Given the description of an element on the screen output the (x, y) to click on. 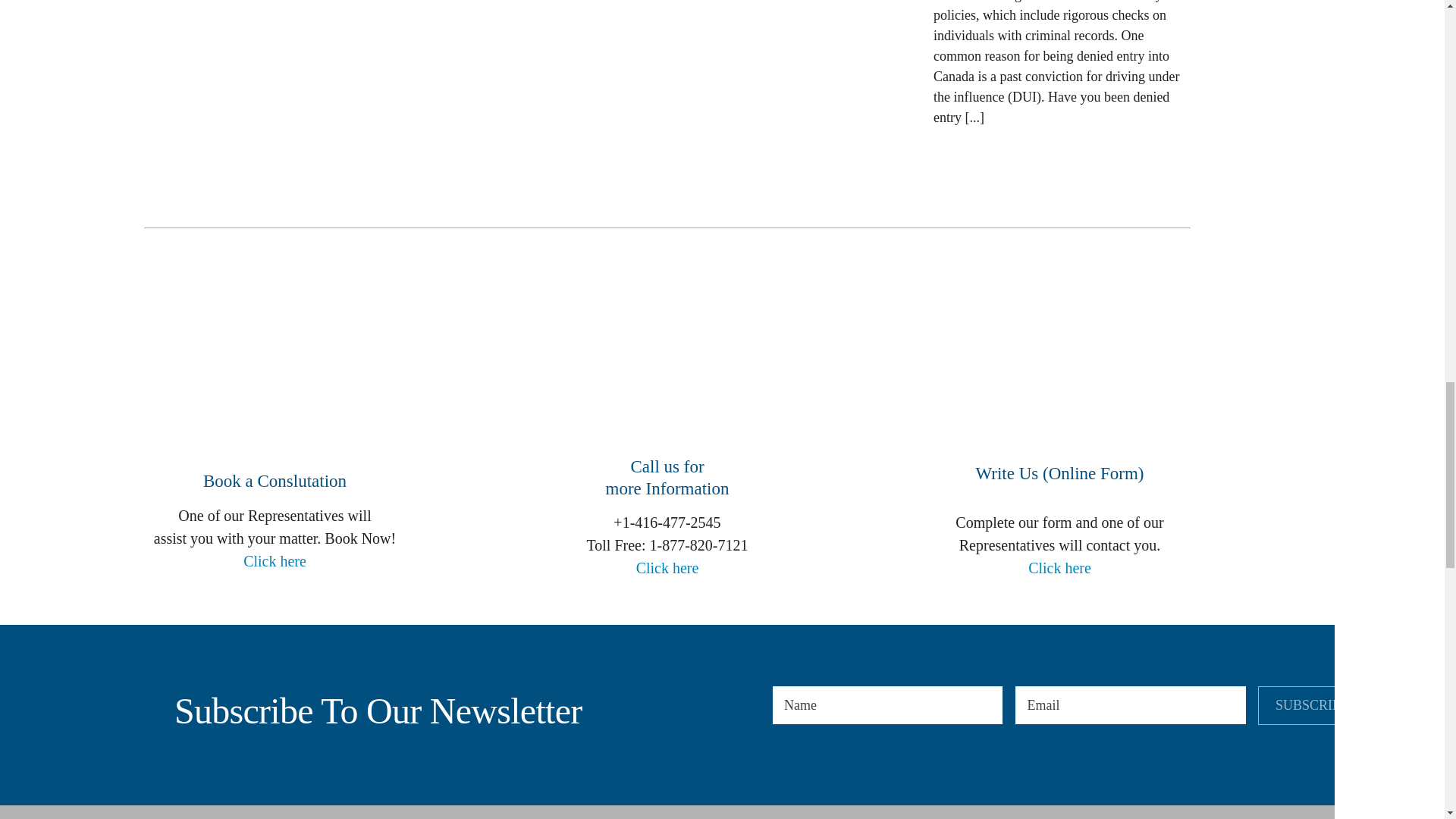
Subscribe (1328, 705)
Online-form (1058, 372)
logo-element-small (152, 711)
consultation (666, 368)
